Given the description of an element on the screen output the (x, y) to click on. 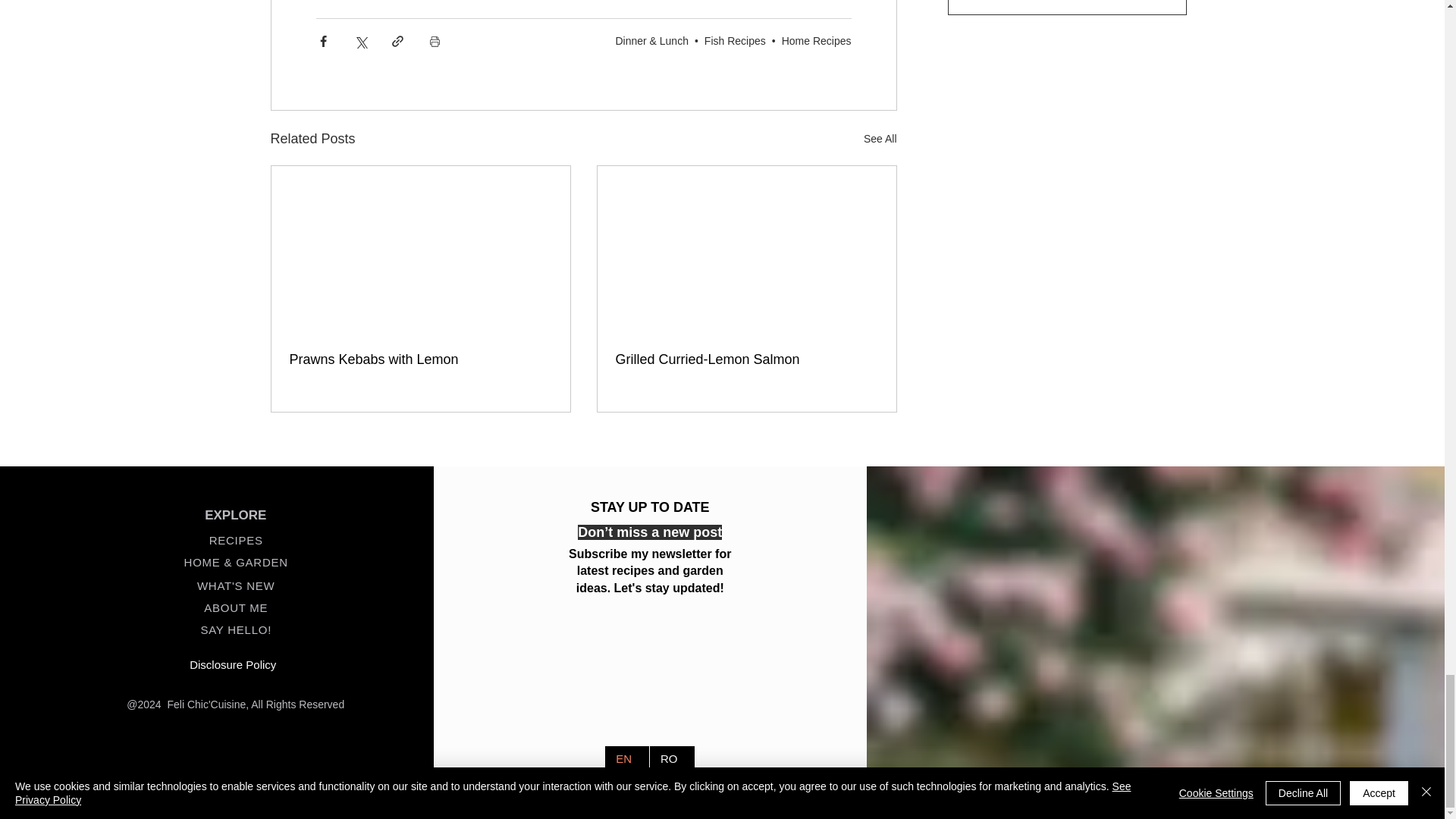
Fish Recipes (734, 40)
See All (879, 138)
Prawns Kebabs with Lemon (420, 359)
Grilled Curried-Lemon Salmon (746, 359)
Home Recipes (816, 40)
